Given the description of an element on the screen output the (x, y) to click on. 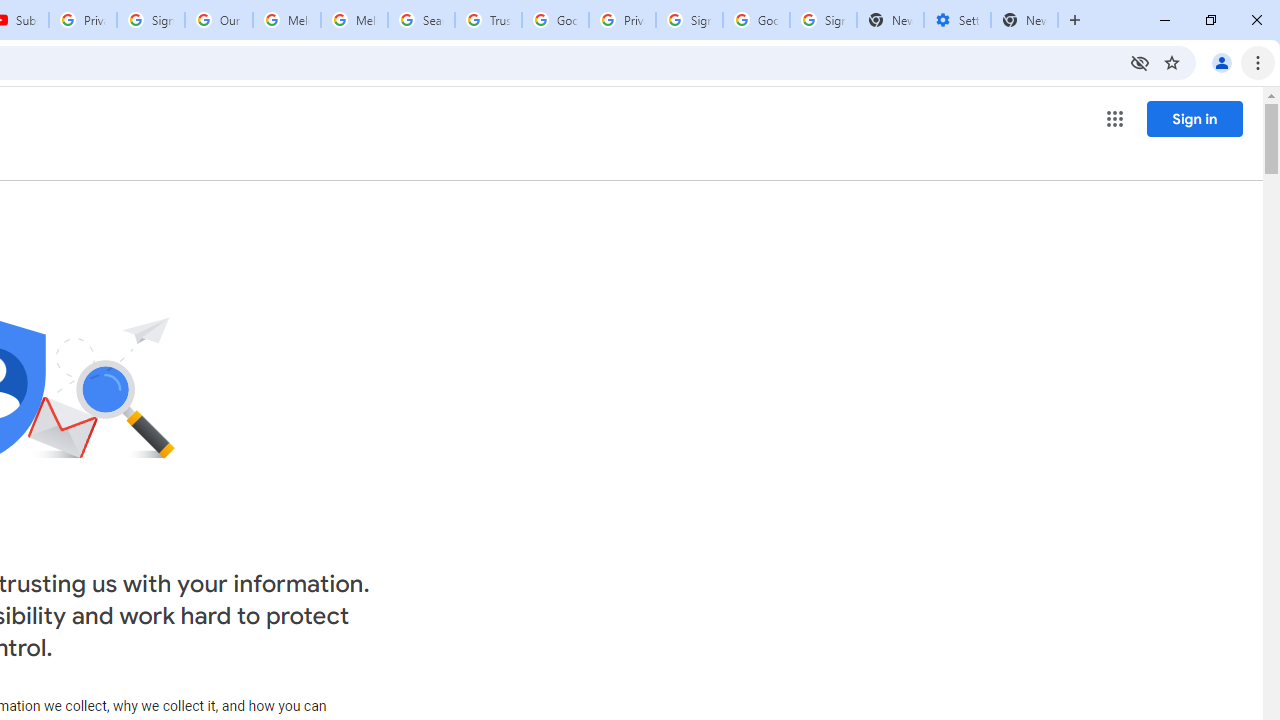
Google Cybersecurity Innovations - Google Safety Center (756, 20)
New Tab (1024, 20)
Trusted Information and Content - Google Safety Center (488, 20)
Settings - Addresses and more (957, 20)
Sign in - Google Accounts (823, 20)
